Given the description of an element on the screen output the (x, y) to click on. 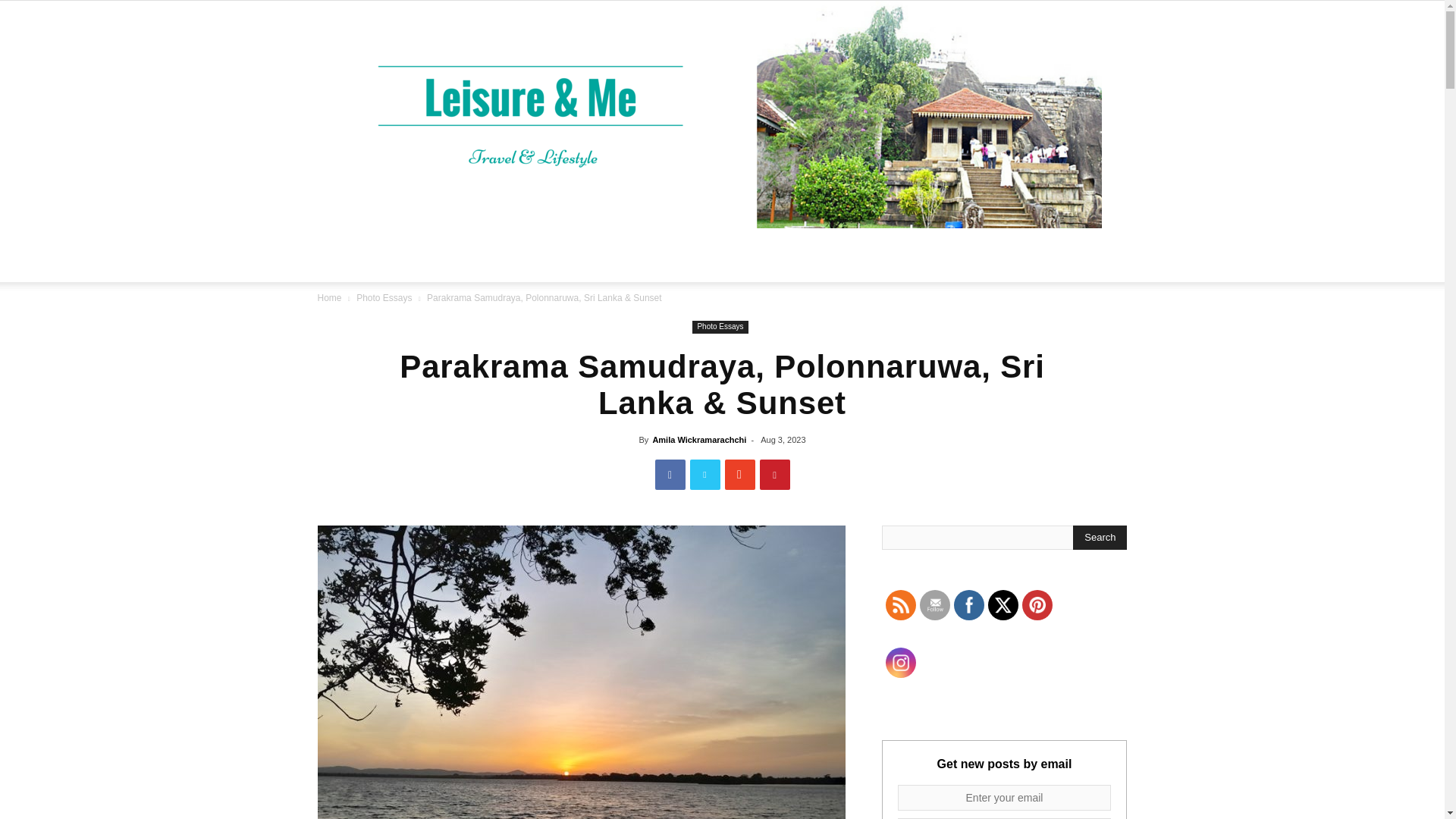
Home (328, 297)
View all posts in Photo Essays (384, 297)
Search (1085, 324)
Photo Essays (720, 327)
Photo Essays (384, 297)
Amila Wickramarachchi (698, 439)
ABOUT ME (599, 254)
WORK WITH ME (713, 254)
CONTACT US (835, 254)
Search (1099, 537)
